Given the description of an element on the screen output the (x, y) to click on. 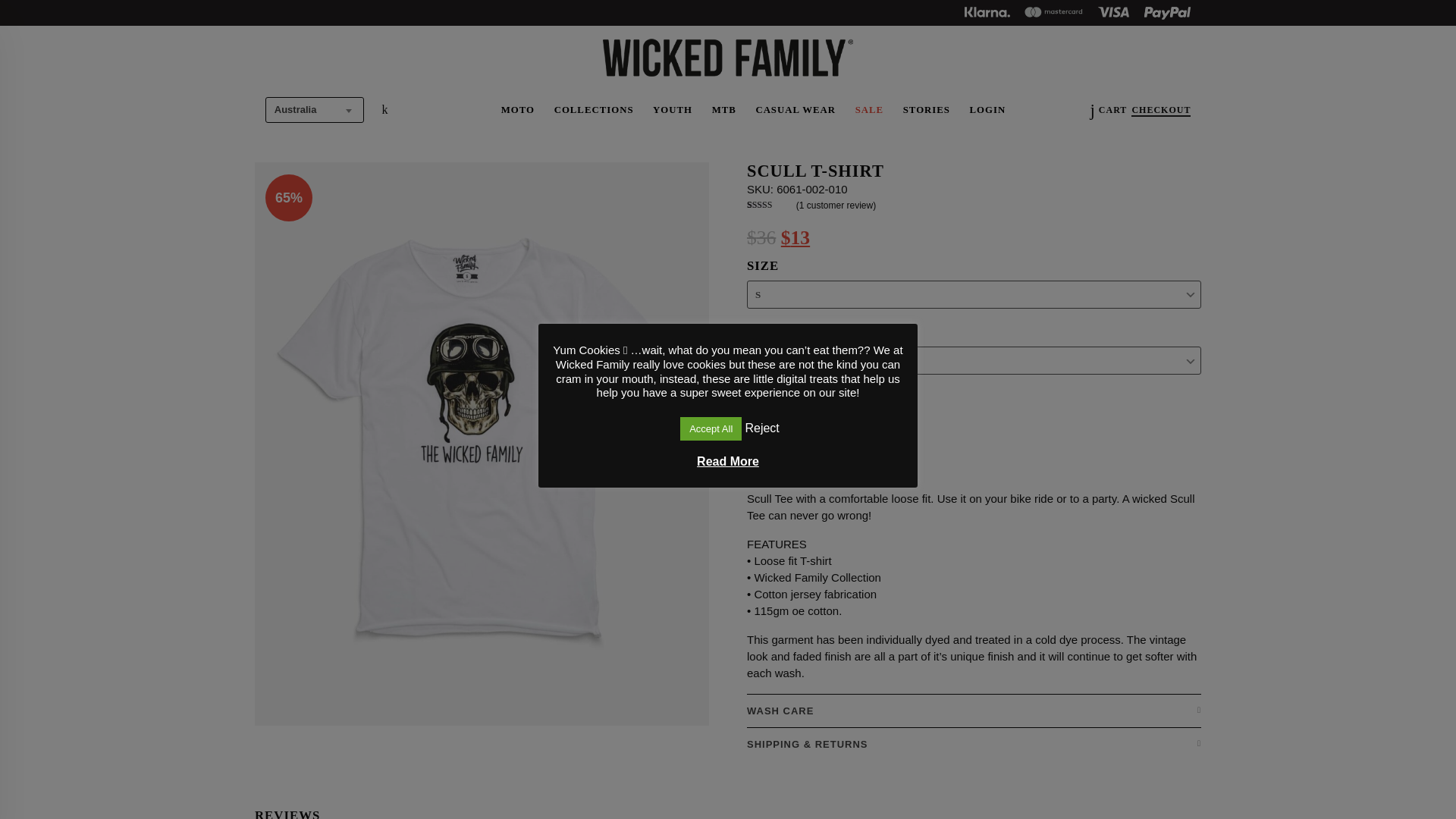
To checkout (1161, 110)
Australia (314, 109)
1 (768, 434)
